Given the description of an element on the screen output the (x, y) to click on. 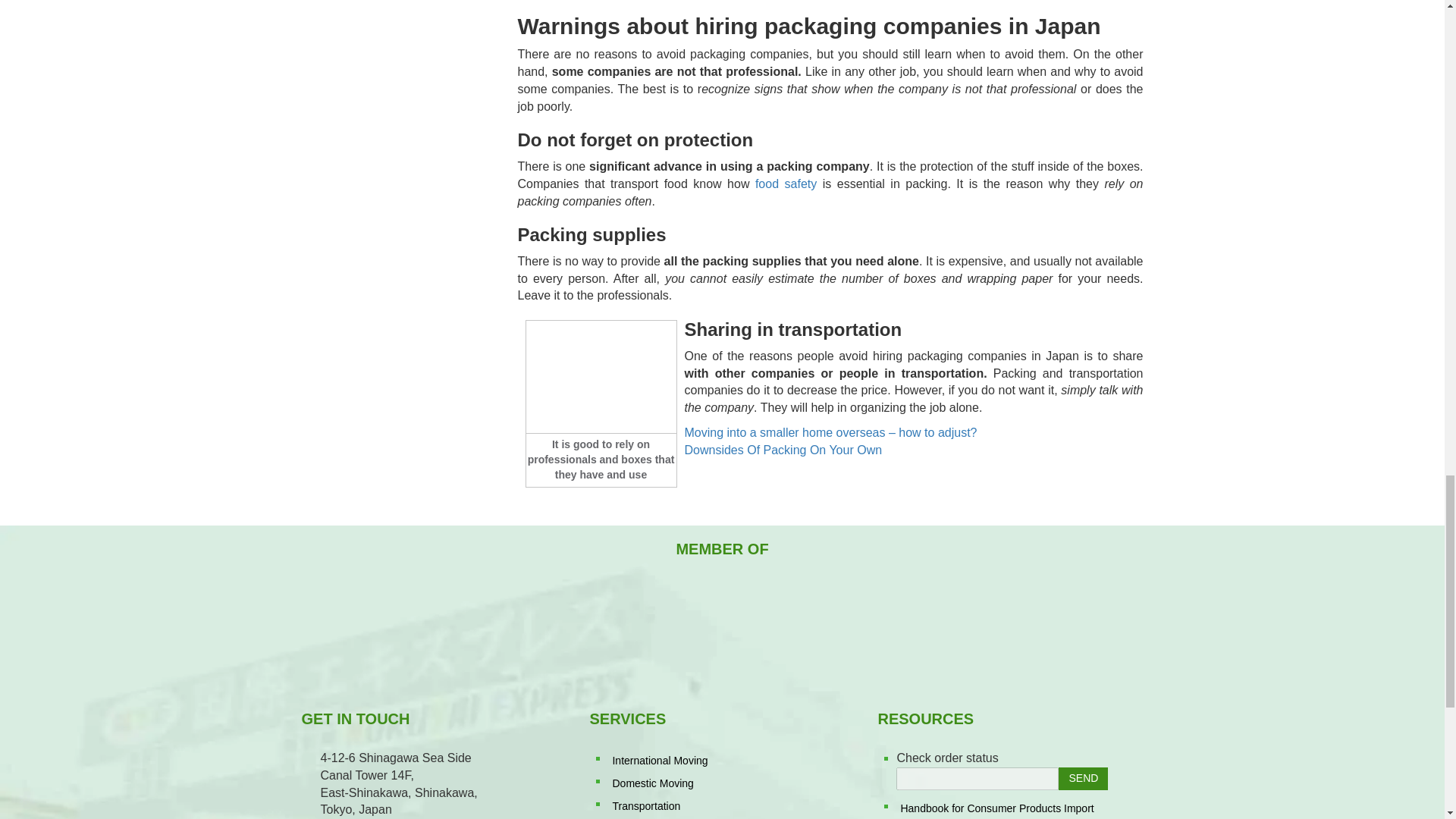
SEND (1083, 778)
Downsides Of Packing On Your Own (783, 449)
food safety (782, 183)
